Given the description of an element on the screen output the (x, y) to click on. 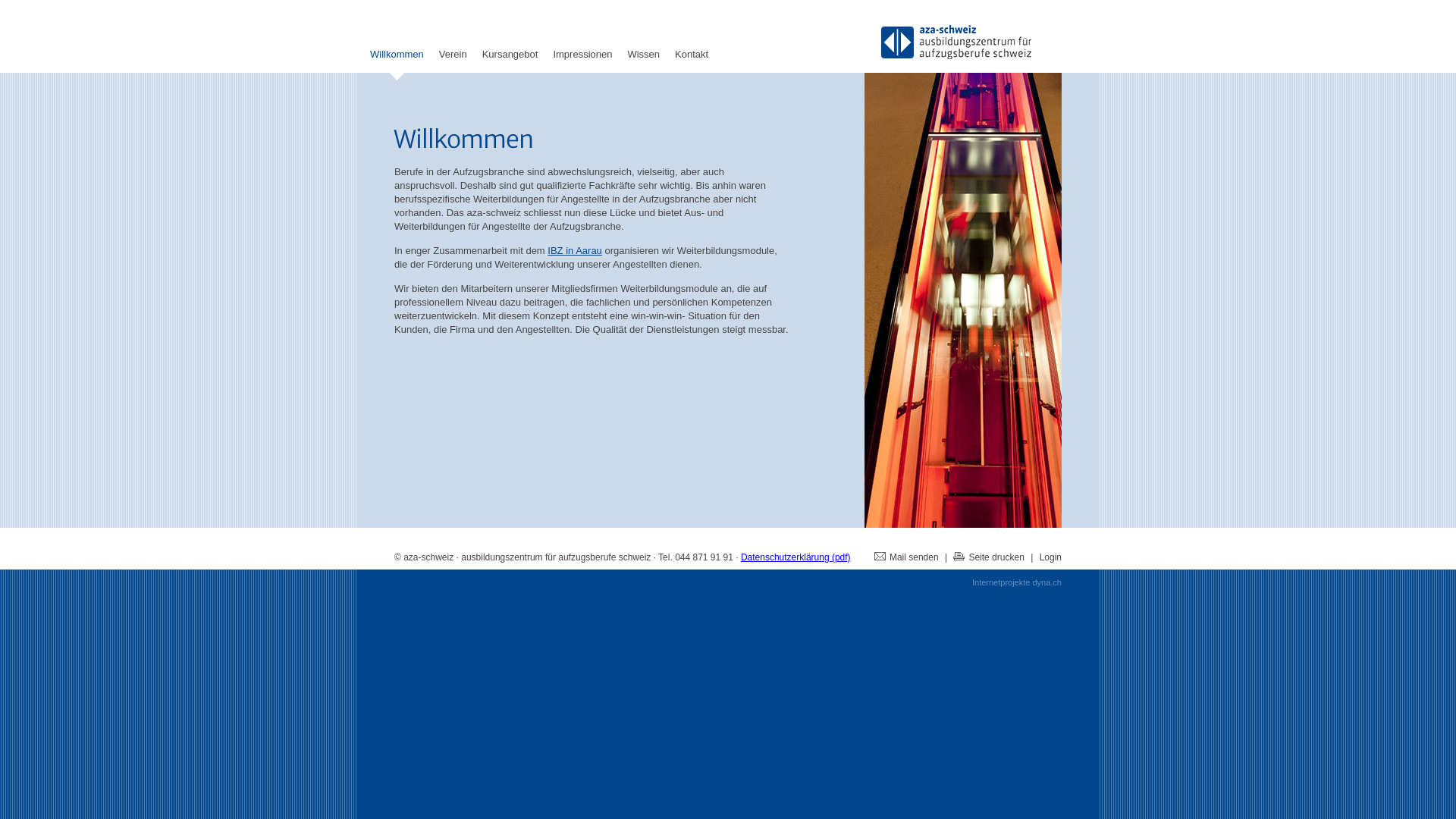
Wissen Element type: text (643, 67)
Mail senden Element type: text (906, 557)
Kursangebot Element type: text (510, 67)
Willkommen Element type: text (396, 67)
Verein Element type: text (453, 67)
Impressionen Element type: text (581, 67)
Kontakt Element type: text (691, 67)
Internetprojekte dyna.ch Element type: text (1016, 582)
Seite drucken Element type: text (988, 557)
IBZ in Aarau Element type: text (574, 250)
Login Element type: text (1050, 557)
